Given the description of an element on the screen output the (x, y) to click on. 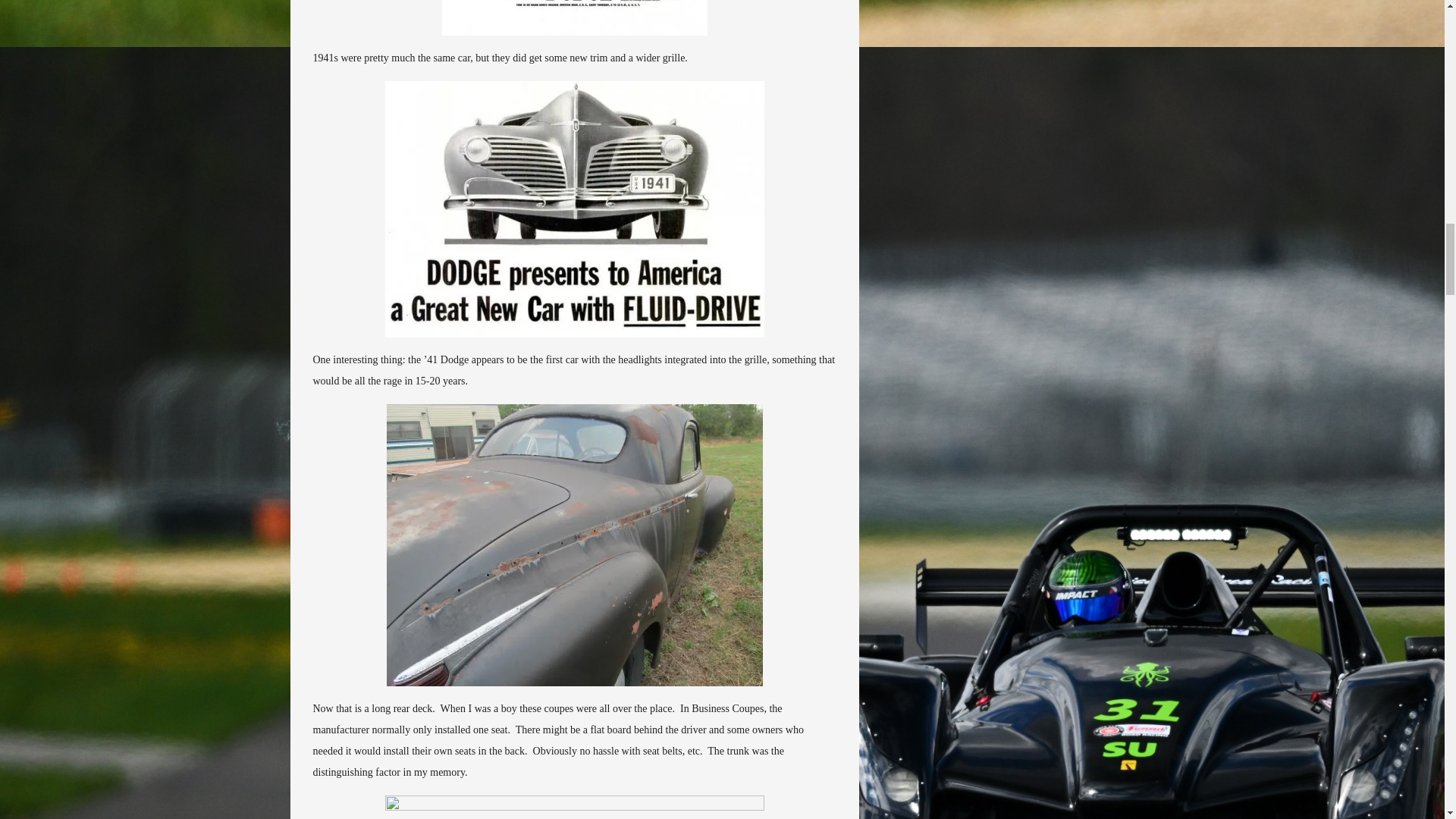
rear quarter (574, 807)
long rear deck (574, 545)
41 Dodge ad (573, 18)
new 1941 grille (574, 209)
